Given the description of an element on the screen output the (x, y) to click on. 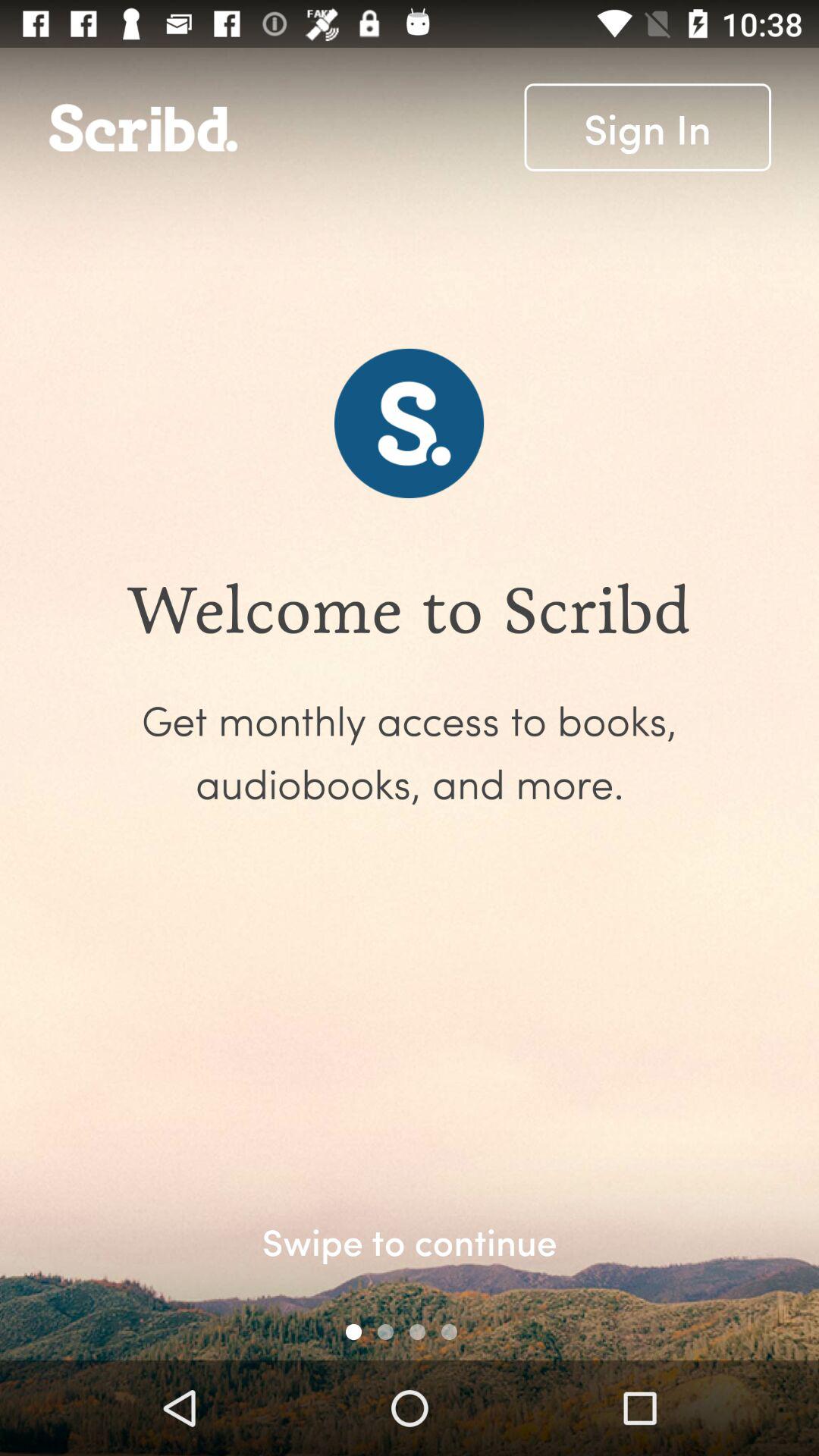
press sign in icon (647, 127)
